Given the description of an element on the screen output the (x, y) to click on. 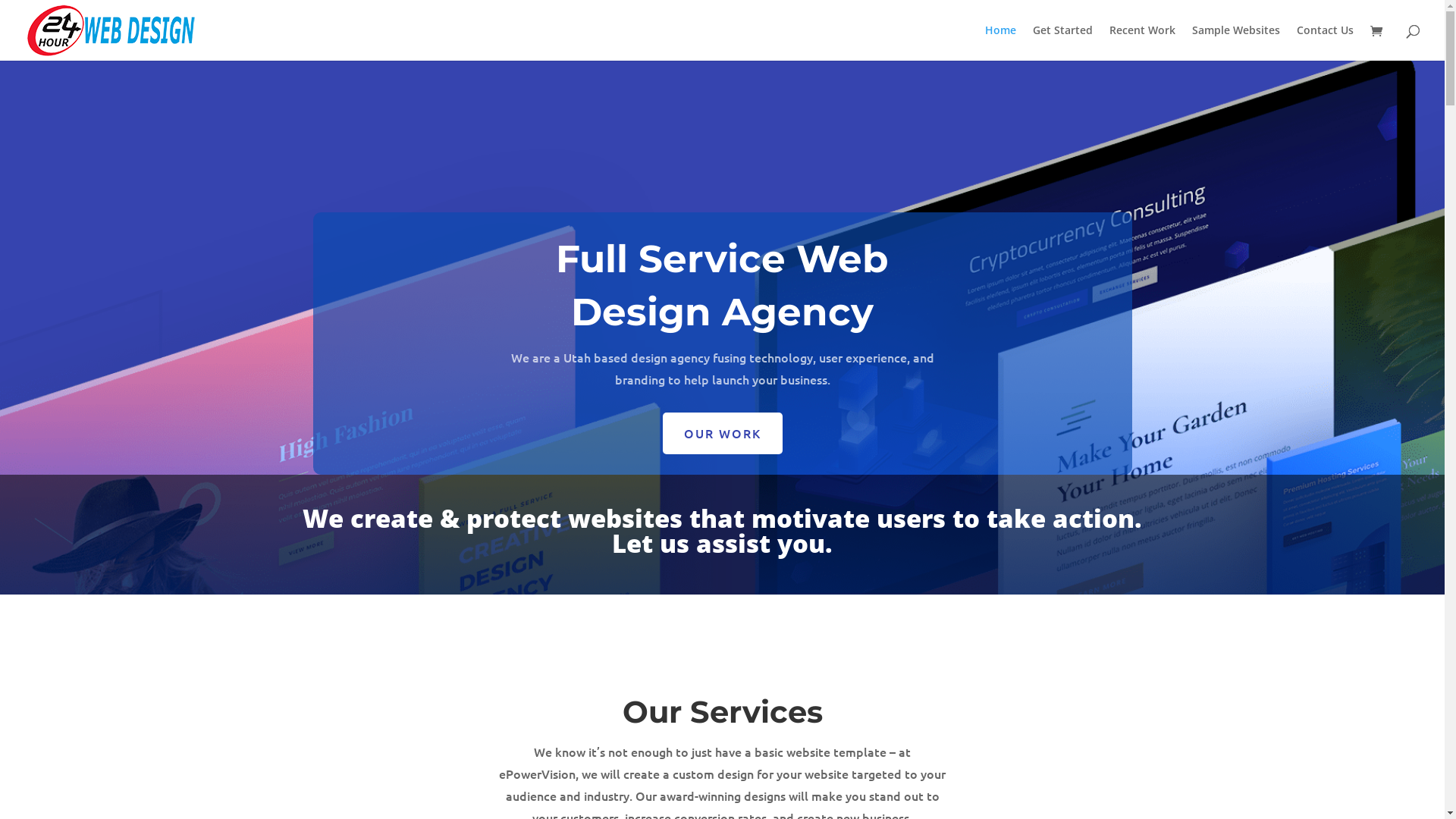
Recent Work Element type: text (1142, 42)
Sample Websites Element type: text (1236, 42)
OUR WORK Element type: text (722, 433)
Home Element type: text (1000, 42)
Contact Us Element type: text (1324, 42)
Get Started Element type: text (1062, 42)
